Given the description of an element on the screen output the (x, y) to click on. 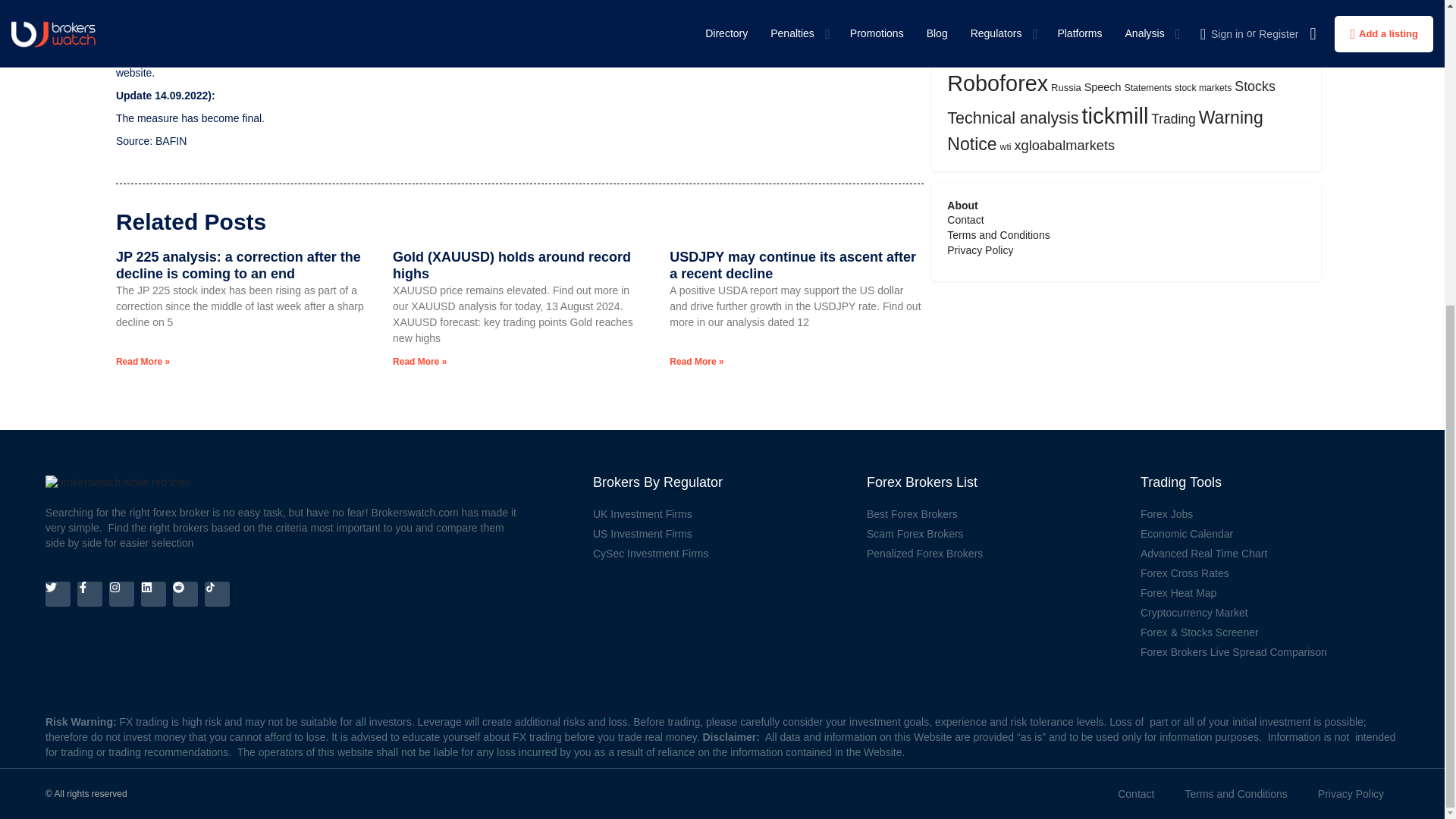
Prospectuses filed (800, 57)
USDJPY may continue its ascent after a recent decline (792, 265)
